Given the description of an element on the screen output the (x, y) to click on. 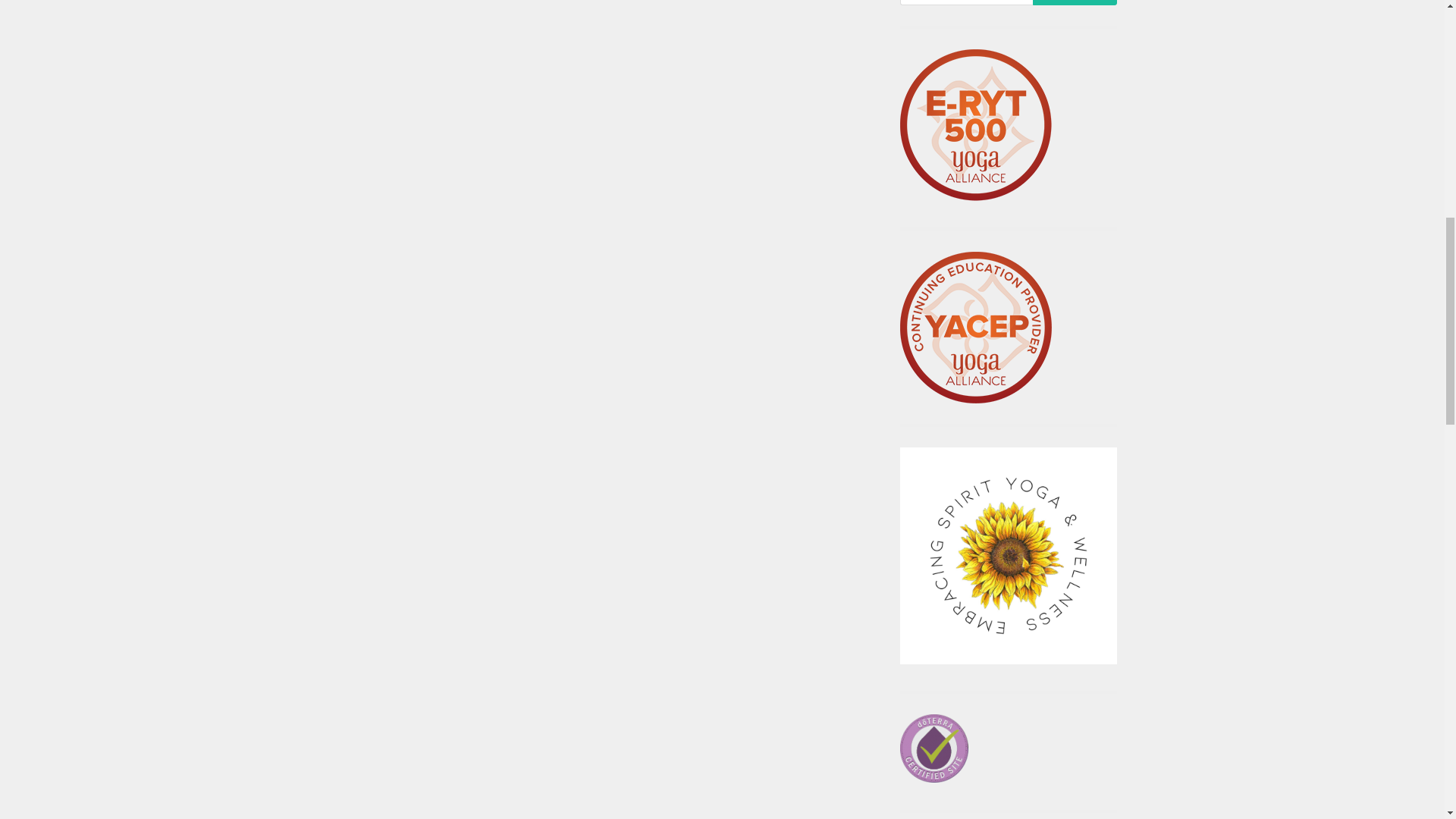
Search (1074, 2)
Search (1074, 2)
Search (1074, 2)
